Given the description of an element on the screen output the (x, y) to click on. 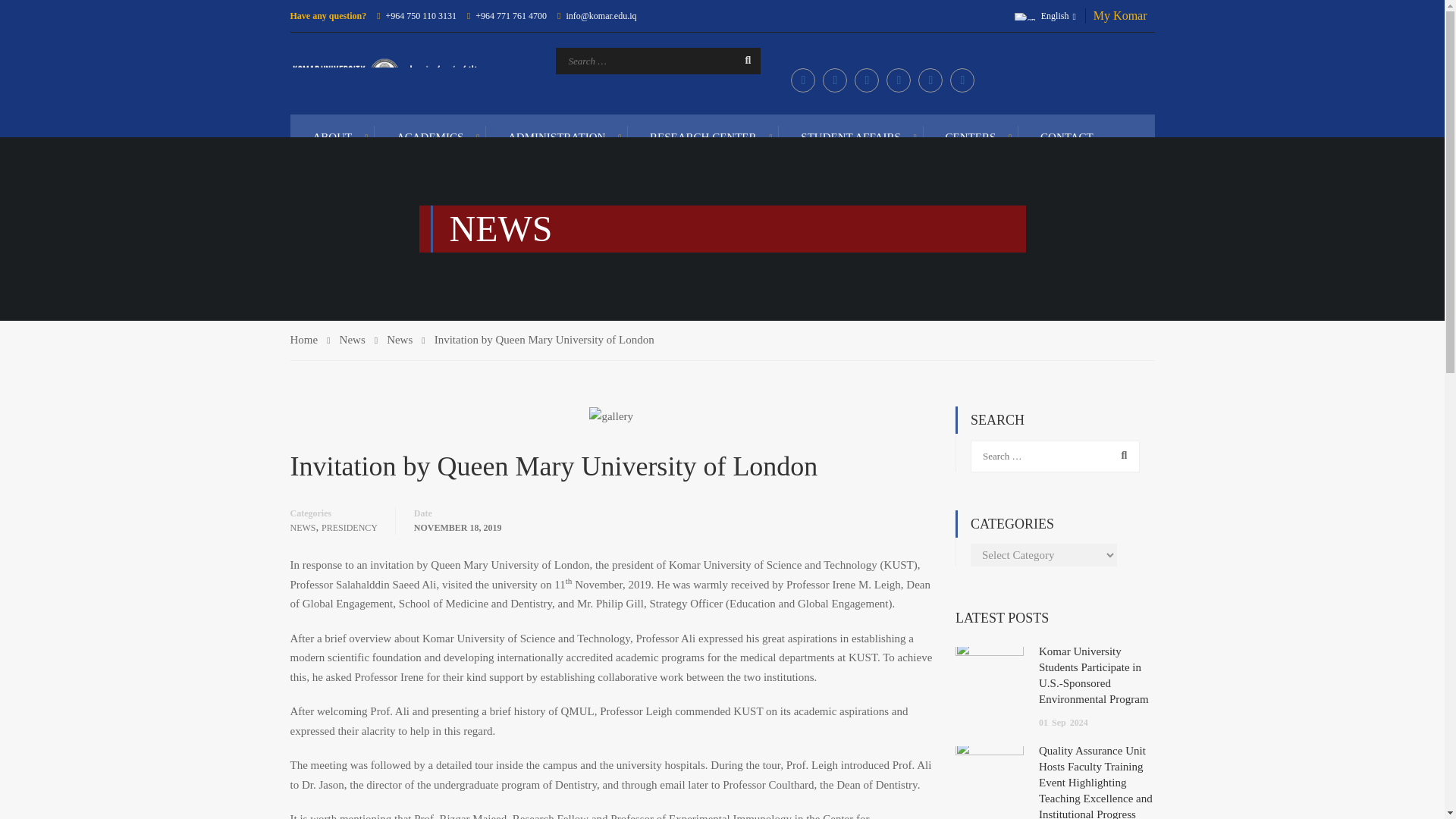
Search (1119, 455)
Search (741, 60)
Search (741, 60)
Search (1119, 455)
